Given the description of an element on the screen output the (x, y) to click on. 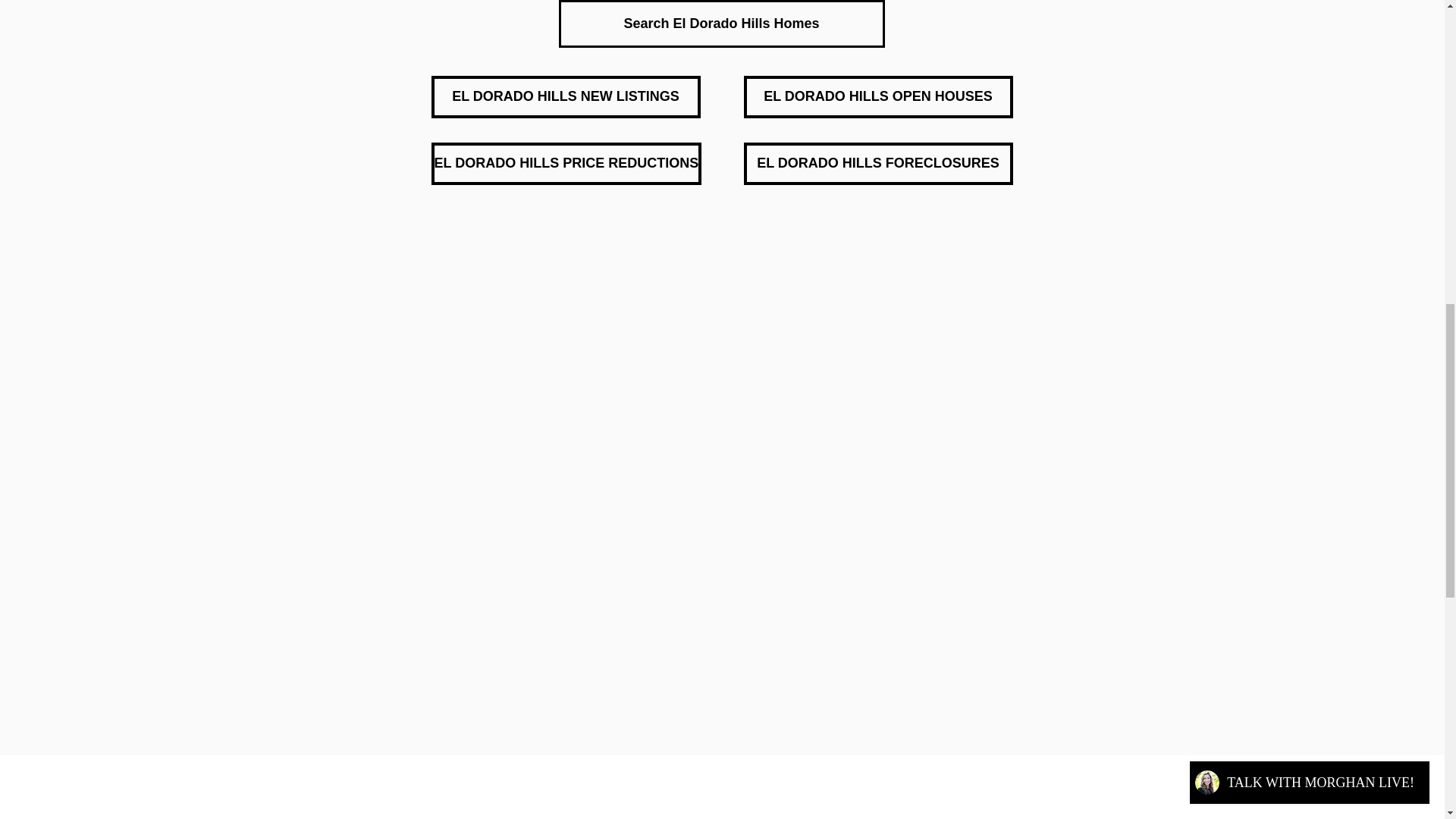
EL DORADO HILLS NEW LISTINGS (565, 96)
EL DORADO HILLS PRICE REDUCTIONS (565, 163)
EL DORADO HILLS OPEN HOUSES (876, 96)
EL DORADO HILLS FORECLOSURES (876, 163)
Search El Dorado Hills Homes (720, 23)
